Given the description of an element on the screen output the (x, y) to click on. 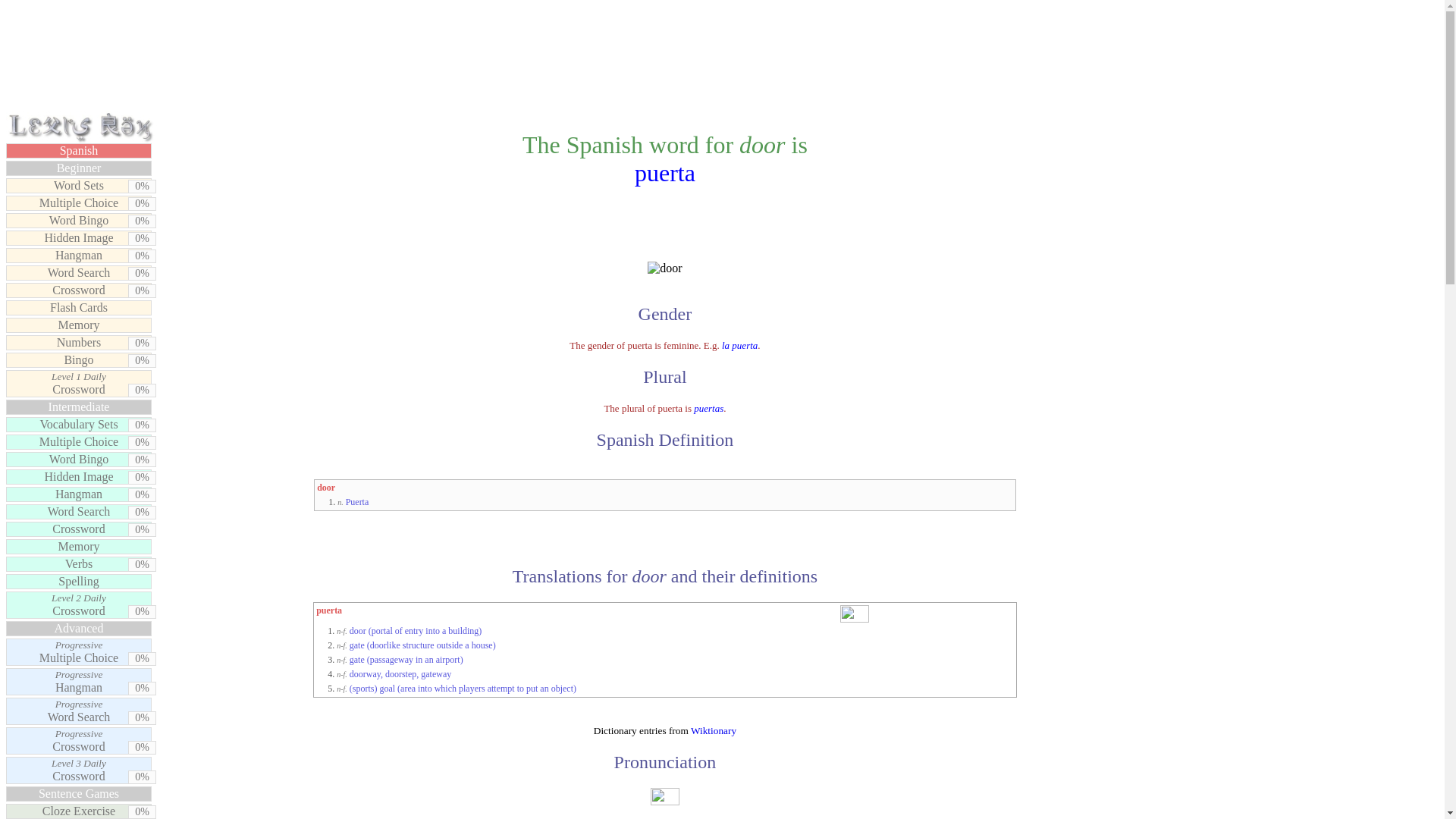
Word Search (78, 740)
Numbers (78, 511)
Bingo (78, 342)
Level 1 score over the last 30 days (78, 359)
Crossword (141, 390)
Word Sets (78, 529)
Spanish (78, 185)
